Given the description of an element on the screen output the (x, y) to click on. 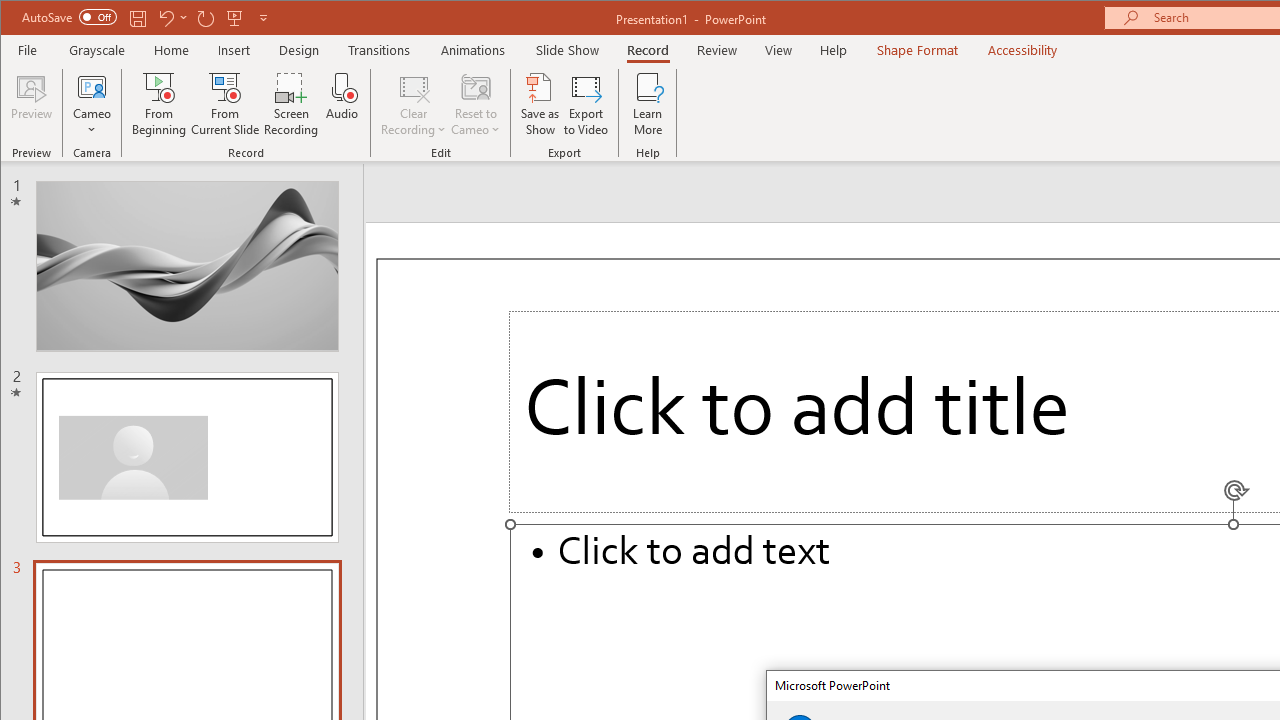
Screen Recording (291, 104)
Shape Format (916, 50)
Reset to Cameo (476, 104)
Learn More (648, 104)
